Given the description of an element on the screen output the (x, y) to click on. 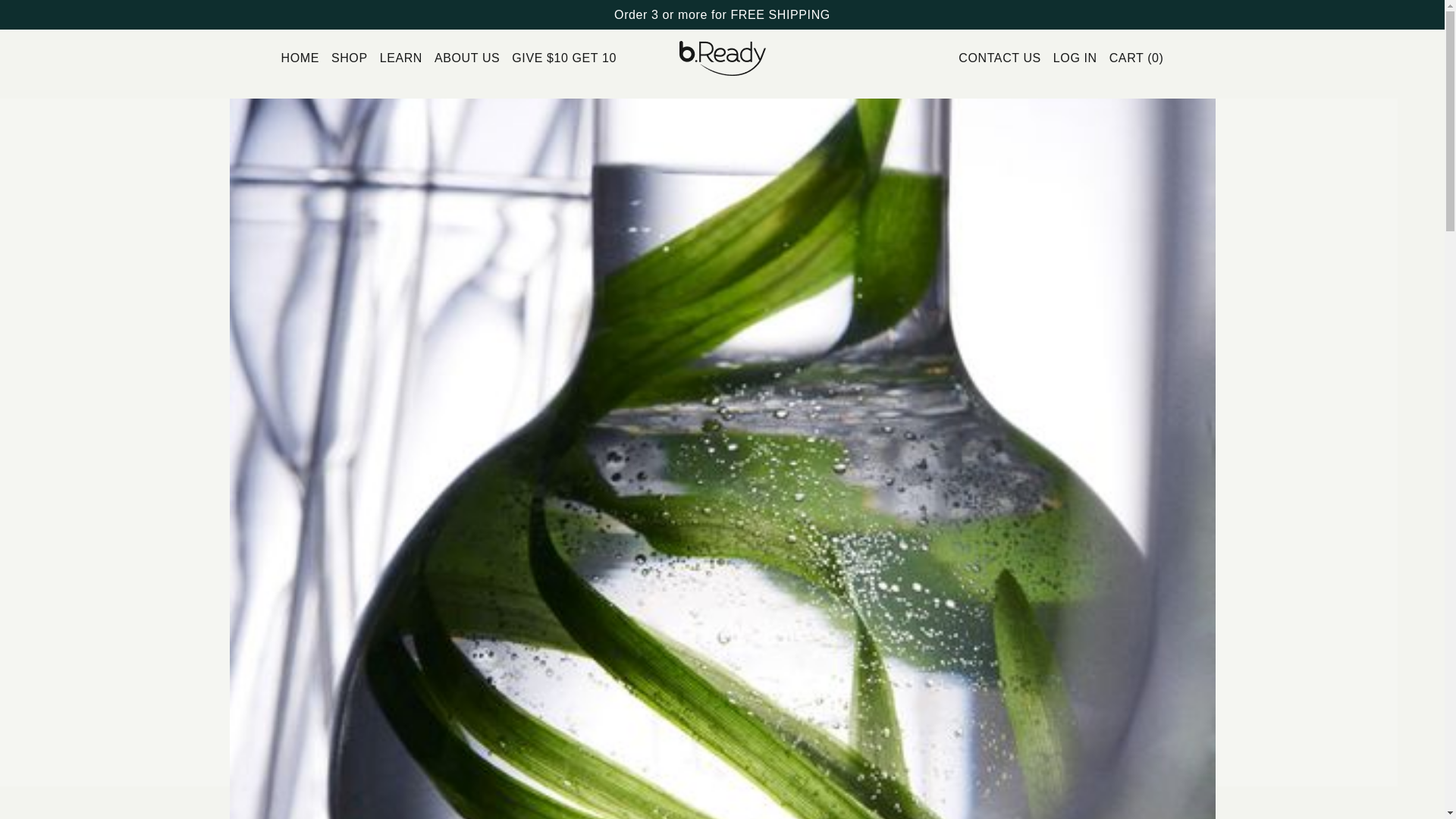
ABOUT US (466, 58)
LEARN (401, 58)
LOG IN (1074, 58)
CONTACT US (999, 58)
HOME (299, 58)
Skip to content (45, 17)
SHOP (349, 58)
